Given the description of an element on the screen output the (x, y) to click on. 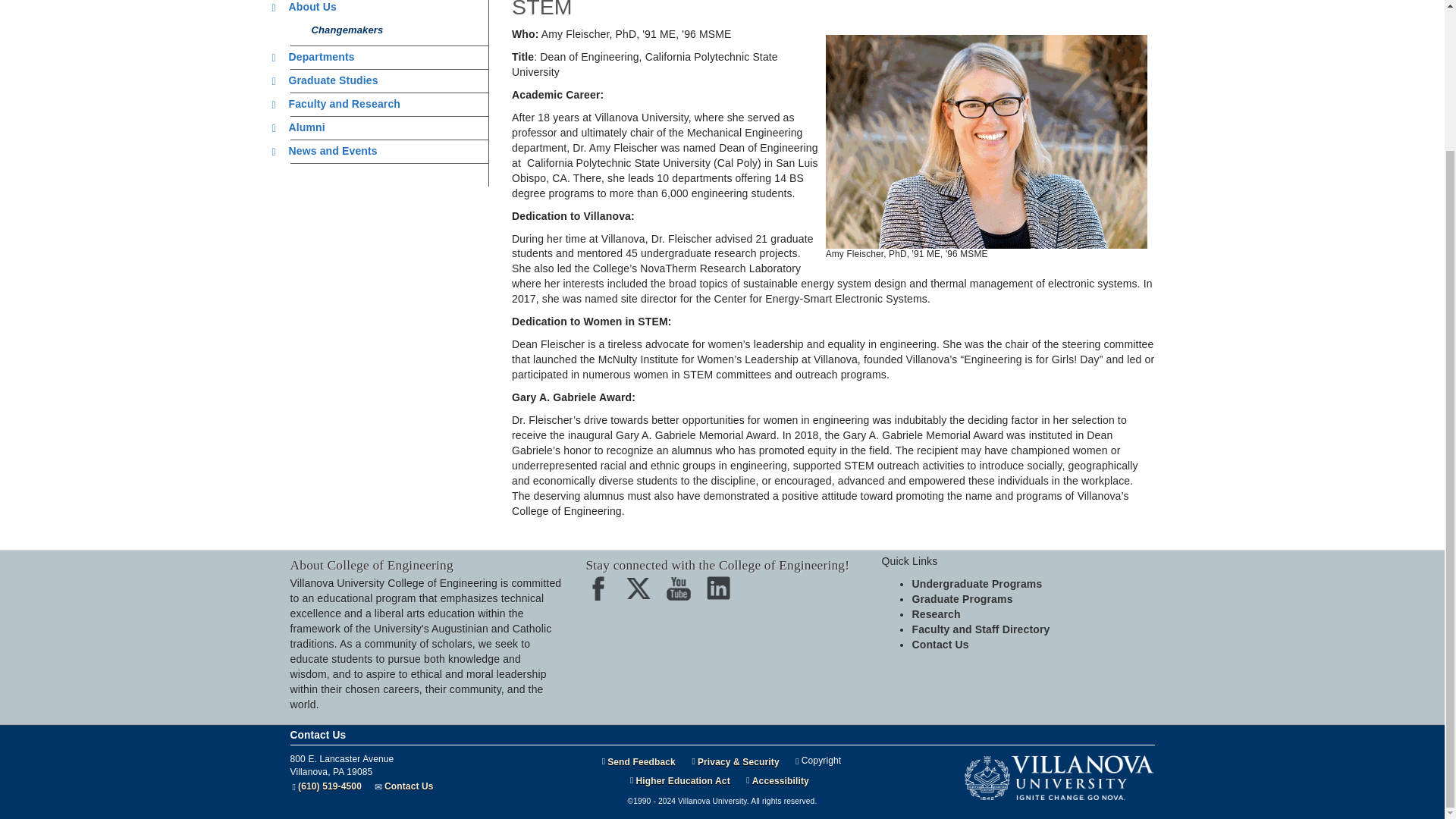
Faculty and Research (340, 103)
Departments (317, 56)
Graduate Studies (329, 80)
Twitter (643, 593)
Changemakers (342, 30)
Alumni (302, 127)
LinkedIn (723, 593)
YouTube (683, 593)
Amy Fleischer, PhD, '91 ME, '96 MSME (986, 142)
Facebook (602, 593)
About Us (308, 6)
News and Events (329, 150)
